Given the description of an element on the screen output the (x, y) to click on. 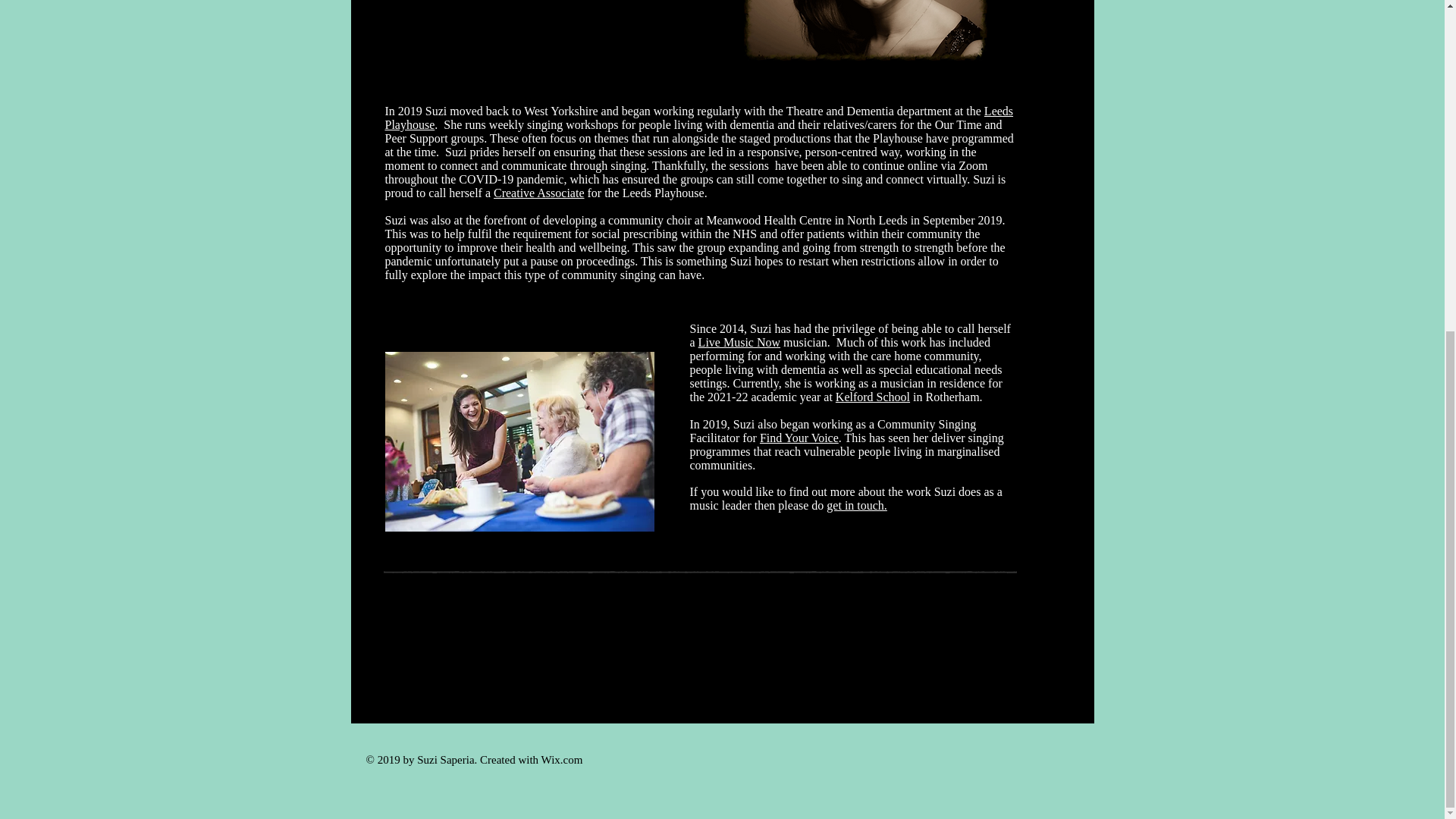
Creative Associate (539, 192)
Wix.com (562, 759)
Find Your Voice (799, 437)
Live Music Now (739, 341)
Leeds Playhouse (699, 117)
Kelford School (872, 396)
get in touch. (856, 504)
